Given the description of an element on the screen output the (x, y) to click on. 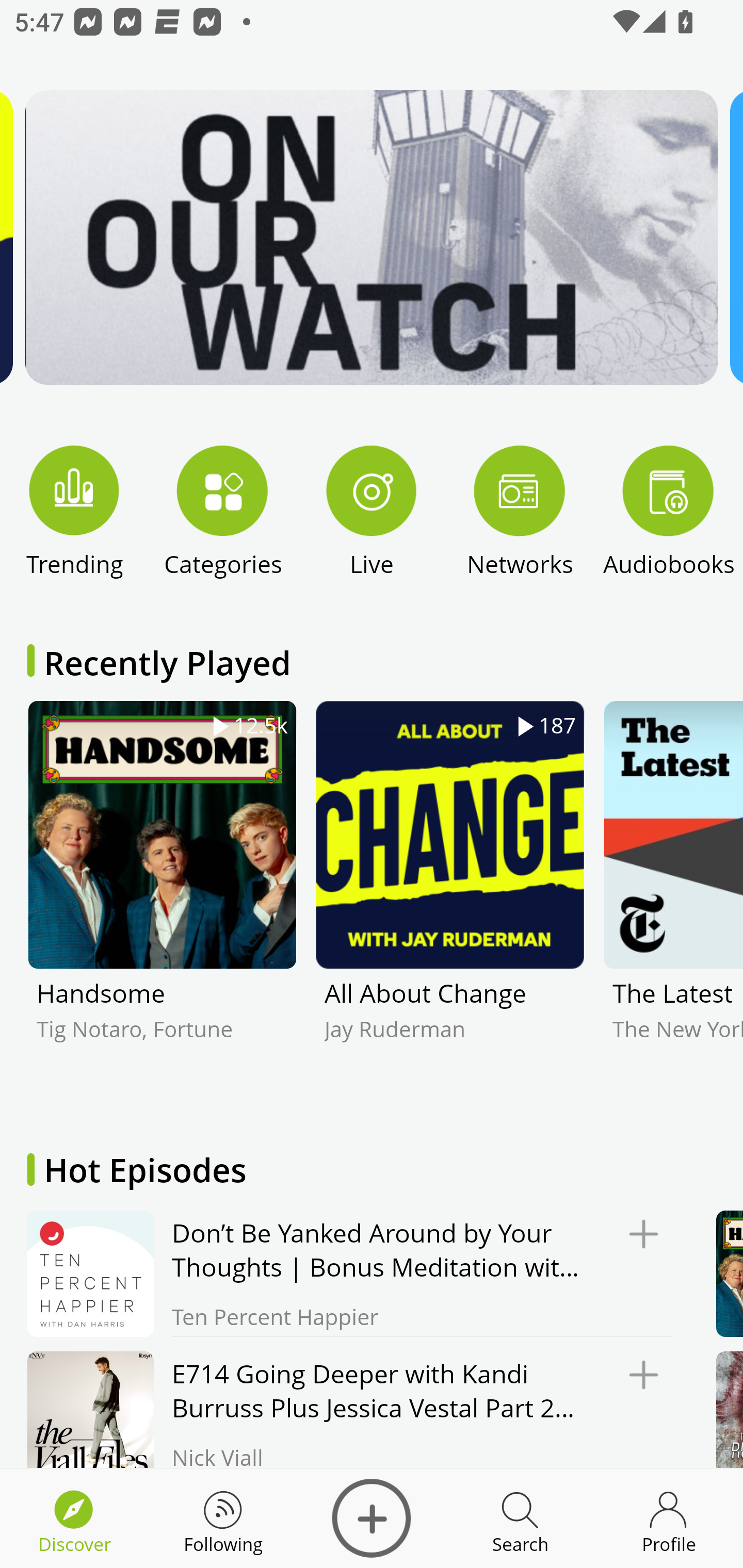
187 All About Change Jay Ruderman (450, 902)
The Latest The New York Times (673, 902)
Discover Following (222, 1518)
Discover (371, 1518)
Discover Search (519, 1518)
Discover Profile (668, 1518)
